Given the description of an element on the screen output the (x, y) to click on. 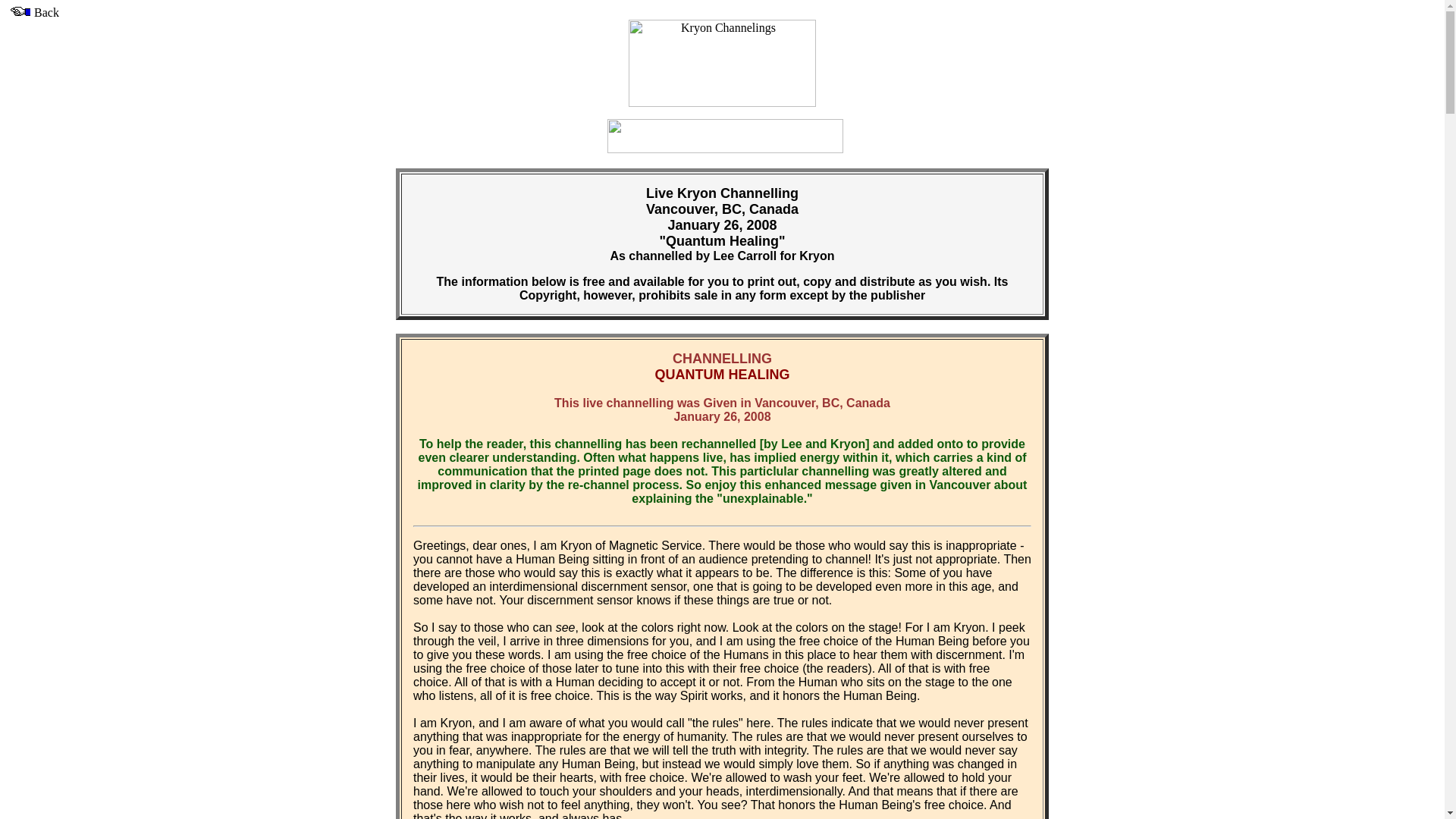
Back (32, 11)
